Given the description of an element on the screen output the (x, y) to click on. 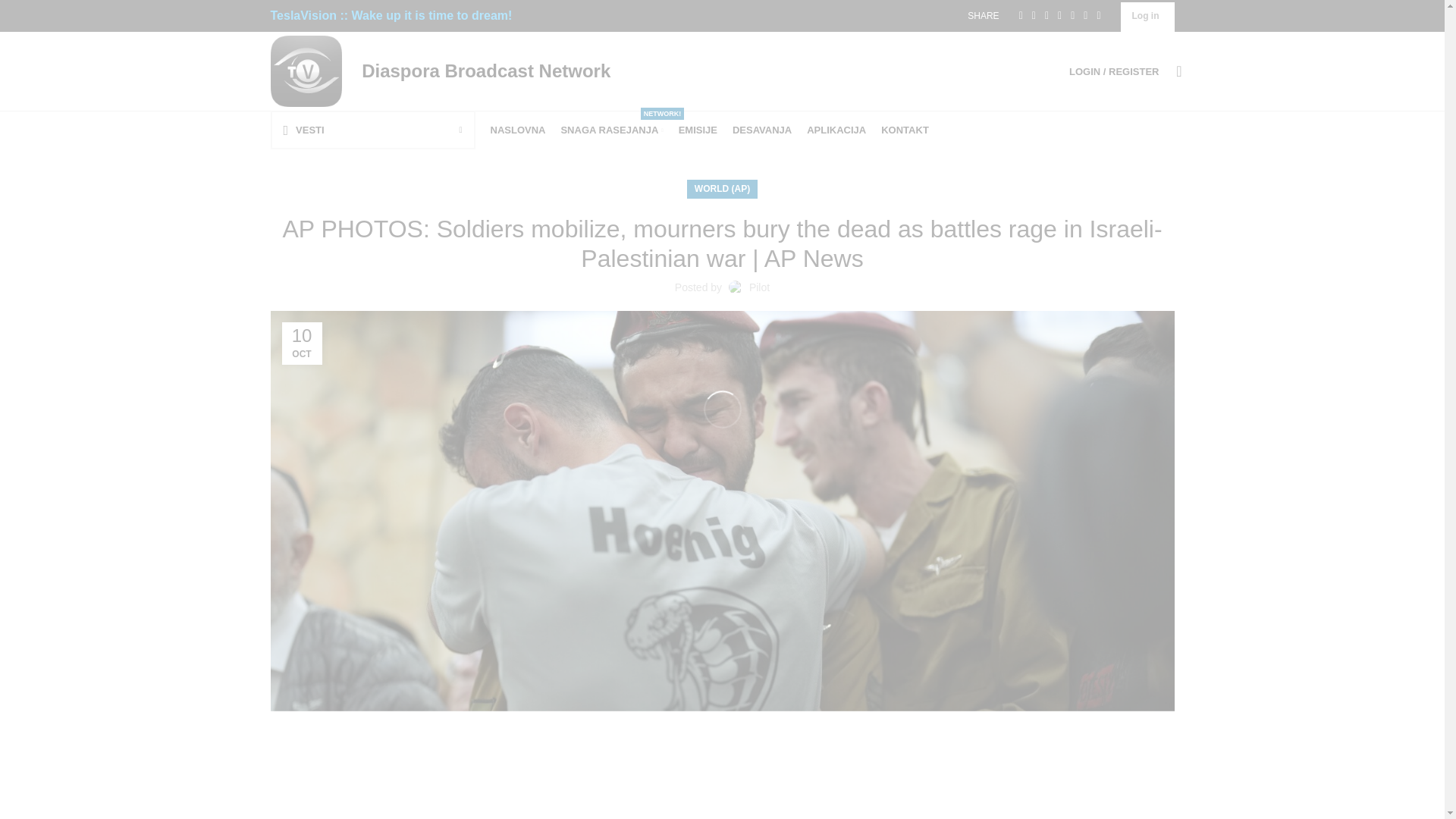
KONTAKT (611, 130)
DESAVANJA (904, 130)
My account (762, 130)
Log in (1113, 71)
 Diaspora Broadcast Network (1144, 15)
EMISIJE (483, 70)
APLIKACIJA (697, 130)
NASLOVNA (836, 130)
Log in (516, 130)
